Given the description of an element on the screen output the (x, y) to click on. 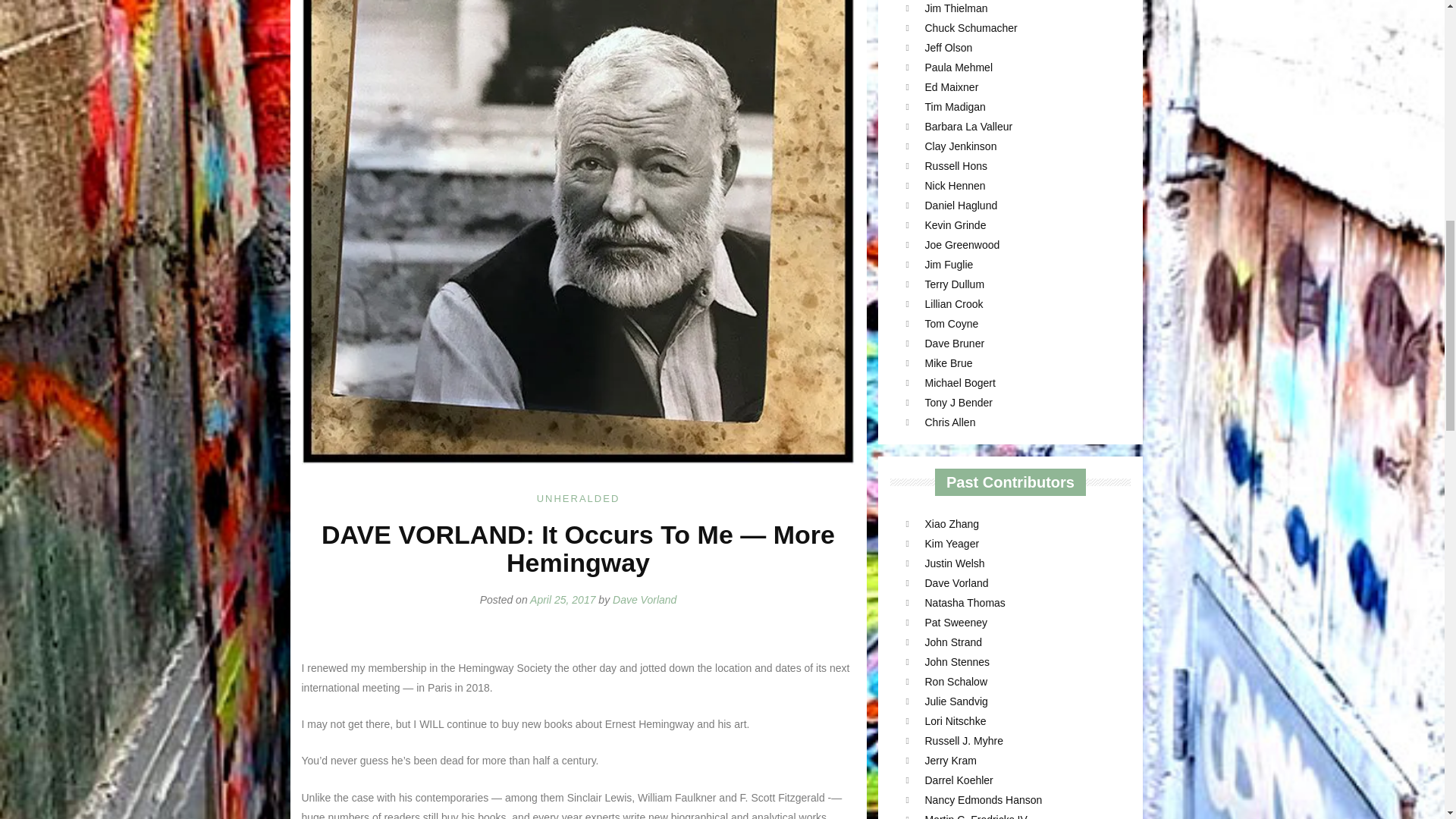
UNHERALDED (578, 498)
Dave Vorland (644, 599)
April 25, 2017 (562, 599)
